Given the description of an element on the screen output the (x, y) to click on. 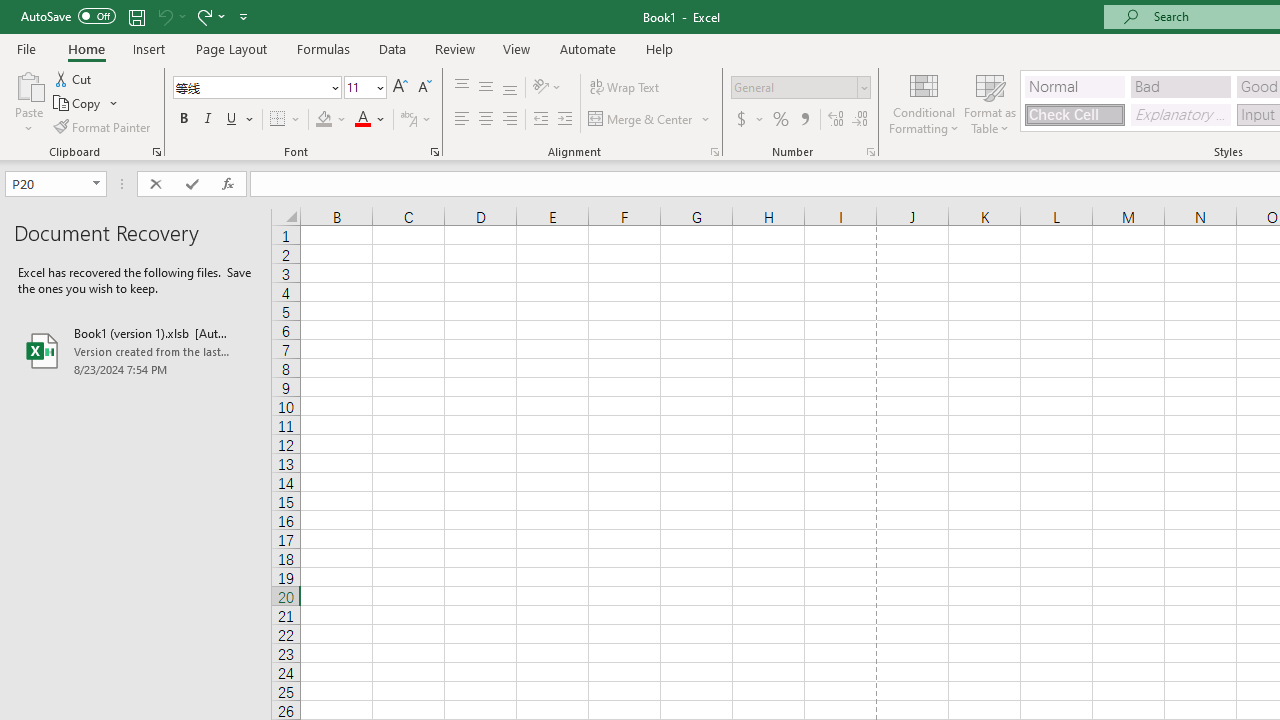
Copy (85, 103)
Format Cell Number (870, 151)
Bottom Align (509, 87)
Align Right (509, 119)
